Given the description of an element on the screen output the (x, y) to click on. 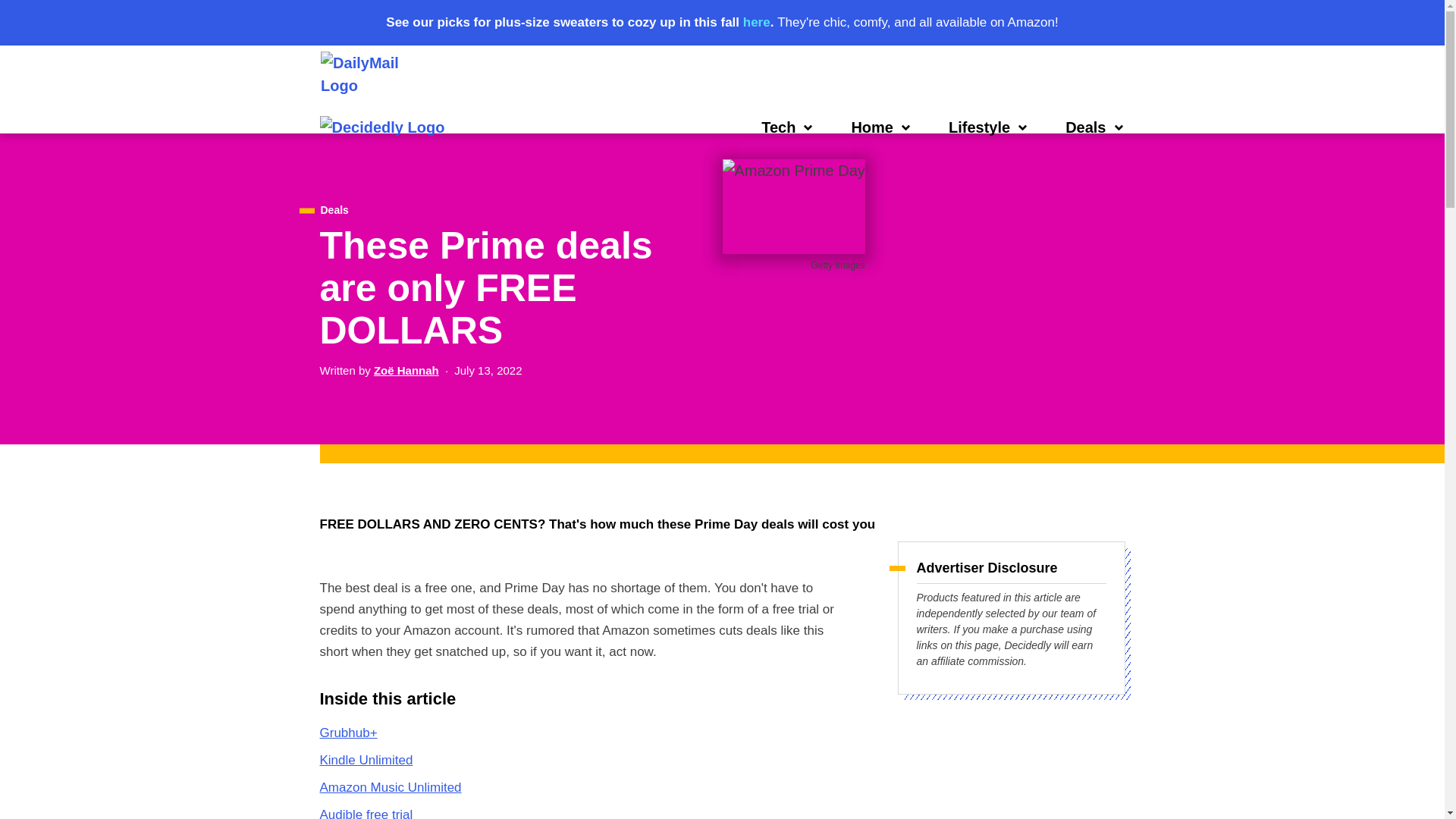
Audible free trial (366, 813)
Amazon Music Unlimited (390, 787)
Kindle Unlimited (366, 759)
here (756, 22)
Deals (333, 210)
